Given the description of an element on the screen output the (x, y) to click on. 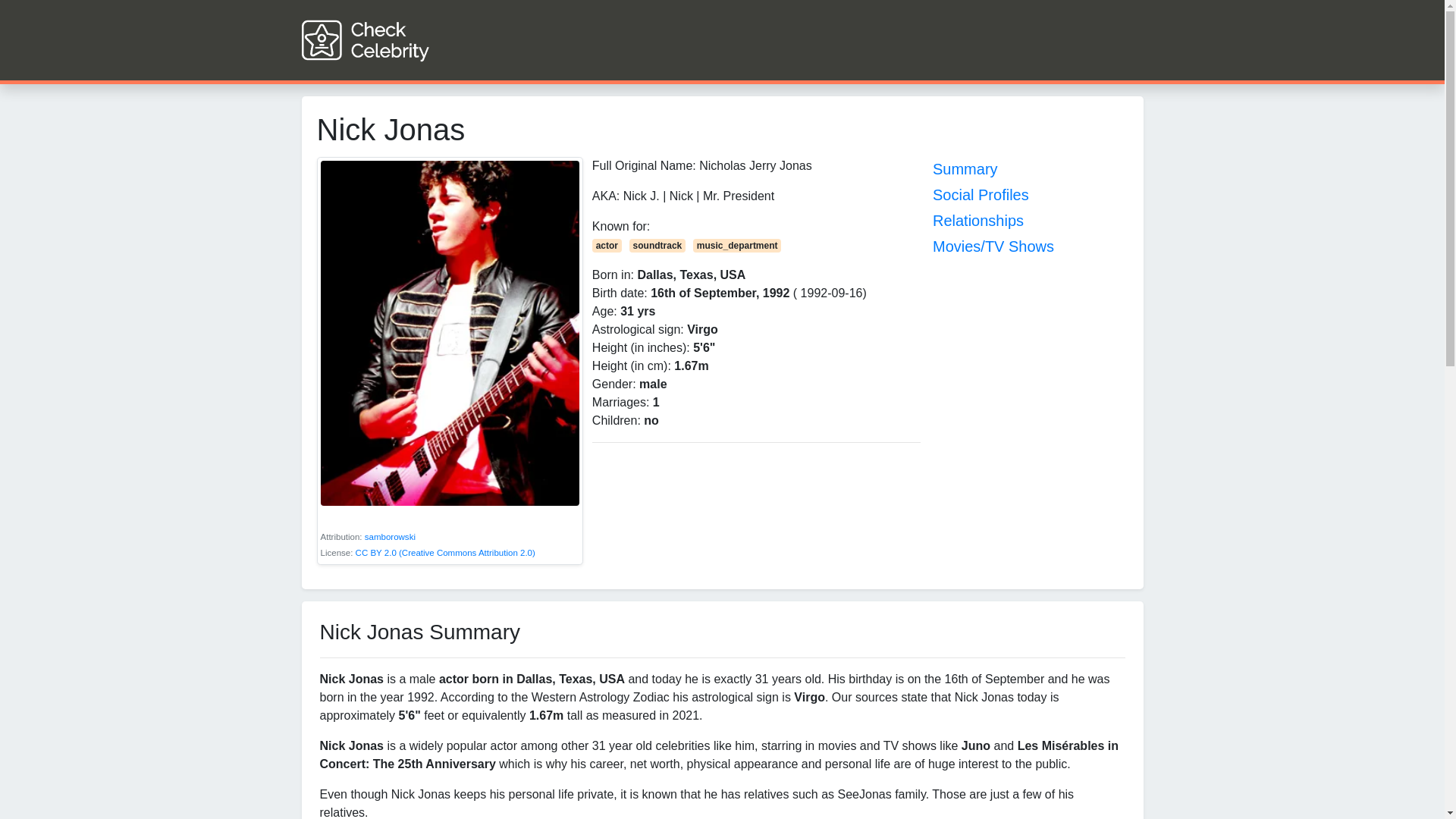
Relationships (978, 220)
Summary (965, 168)
Check Celebrity (392, 39)
samborowski (389, 536)
Social Profiles (981, 194)
